Given the description of an element on the screen output the (x, y) to click on. 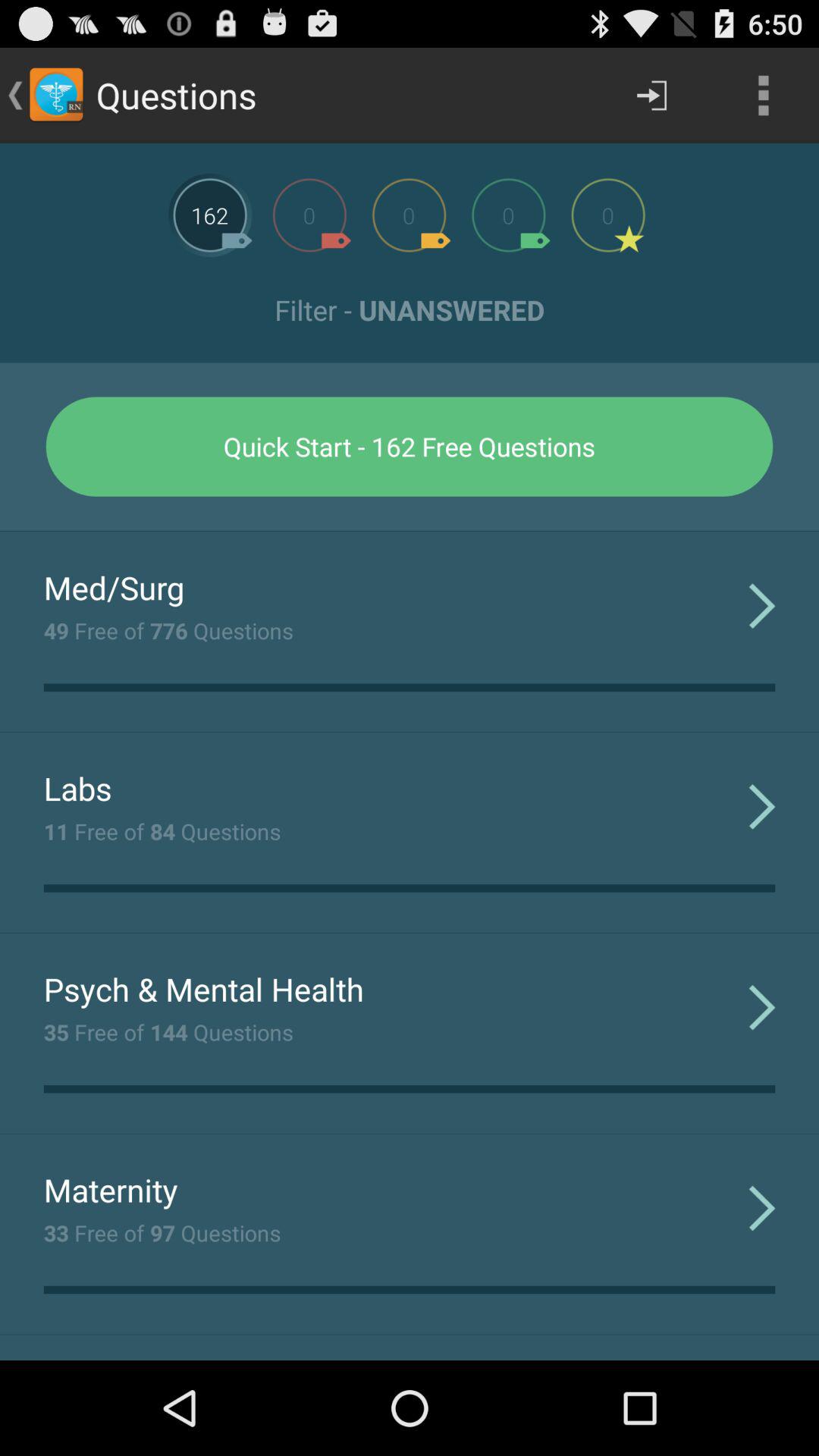
tap icon next to the questions icon (651, 95)
